Given the description of an element on the screen output the (x, y) to click on. 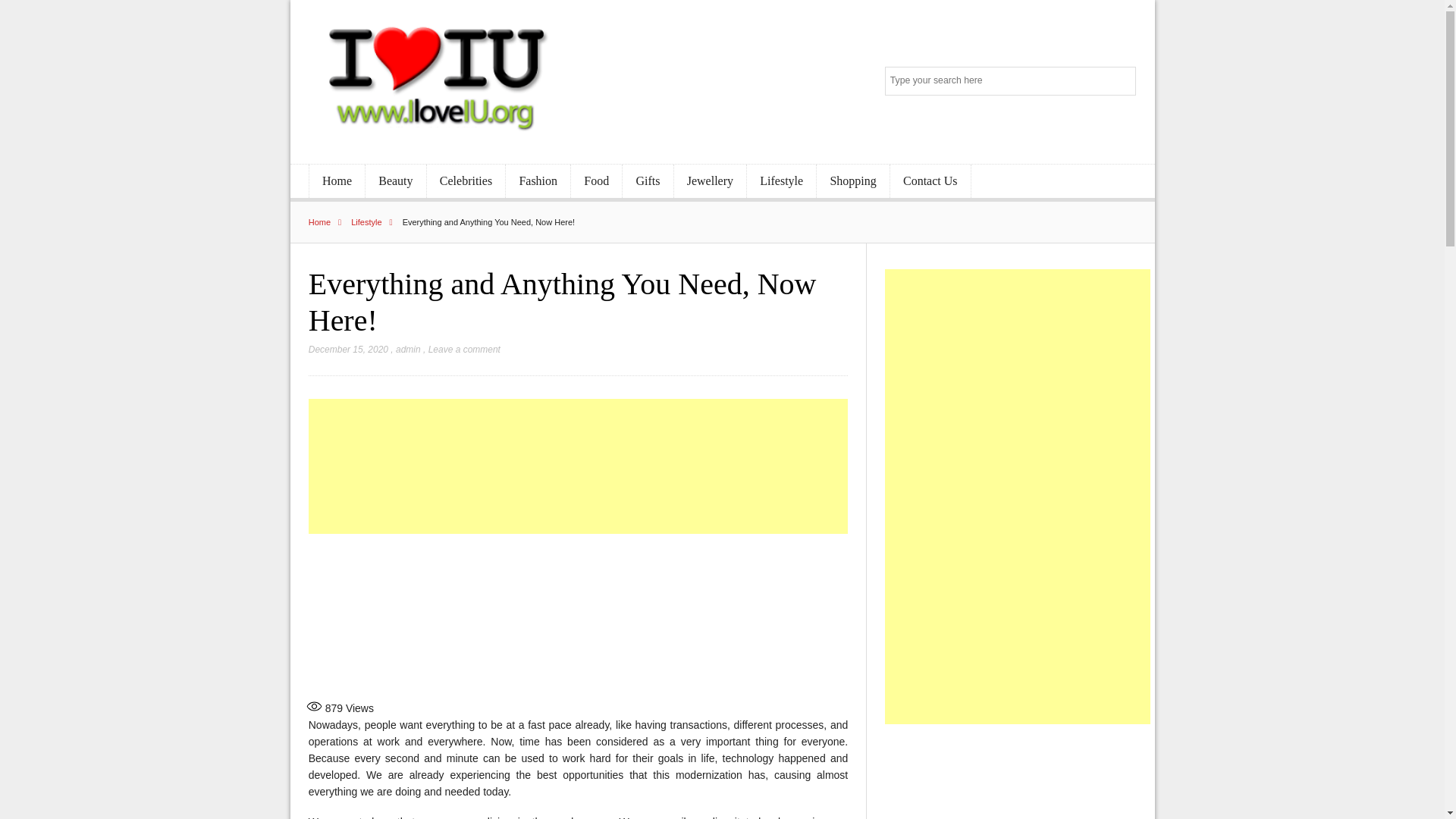
Shopping (852, 181)
Lifestyle (374, 221)
admin (408, 348)
Home (336, 181)
Jewellery (710, 181)
Gifts (647, 181)
Food (595, 181)
Posts by admin (408, 348)
Advertisement (1017, 779)
Advertisement (578, 614)
Lifestyle (780, 181)
Leave a comment (464, 348)
Fashion (537, 181)
Contact Us (930, 181)
Home (328, 221)
